Given the description of an element on the screen output the (x, y) to click on. 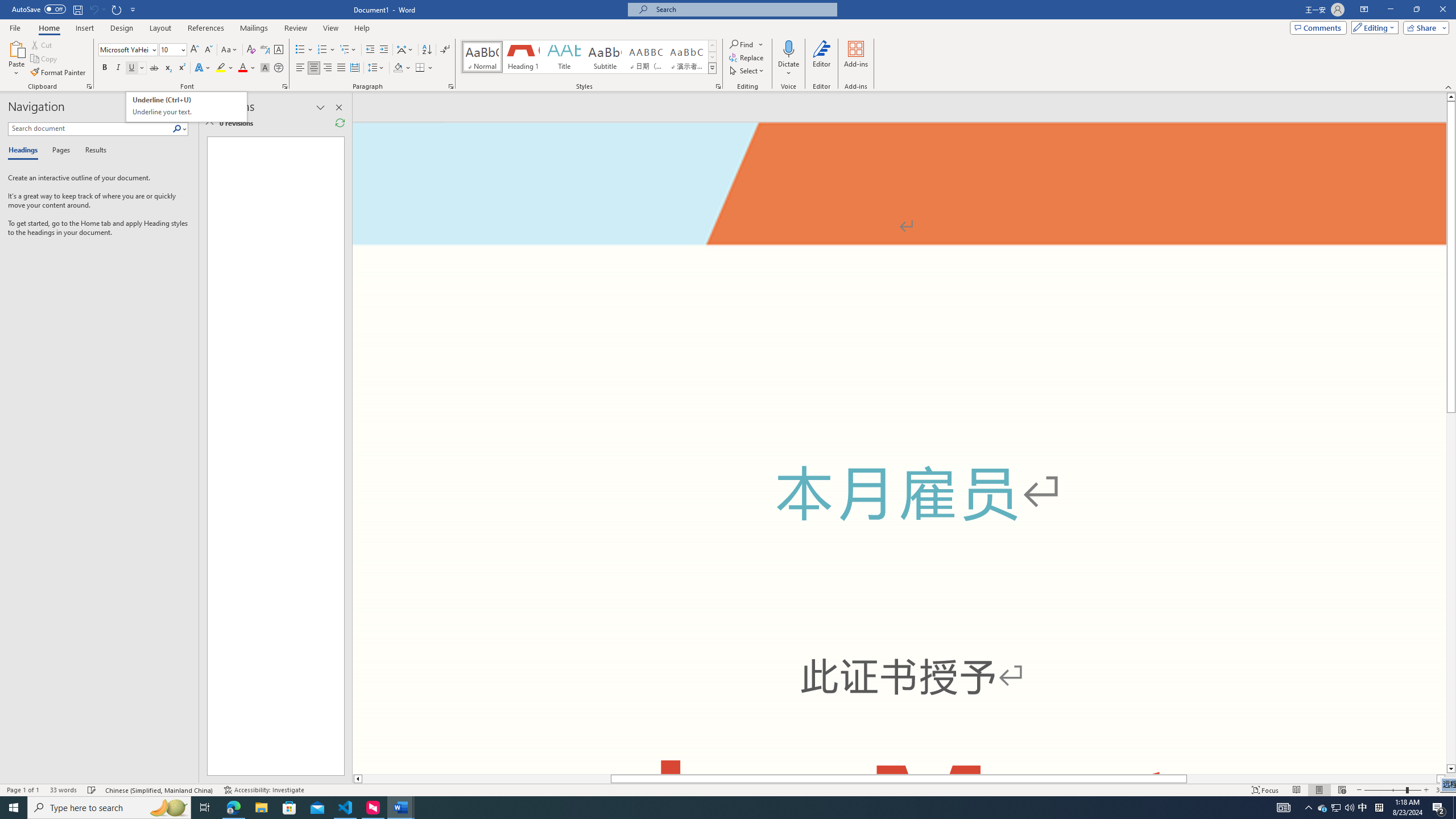
Font Color Red (241, 67)
Can't Undo (96, 9)
Header -Section 1- (898, 163)
